Given the description of an element on the screen output the (x, y) to click on. 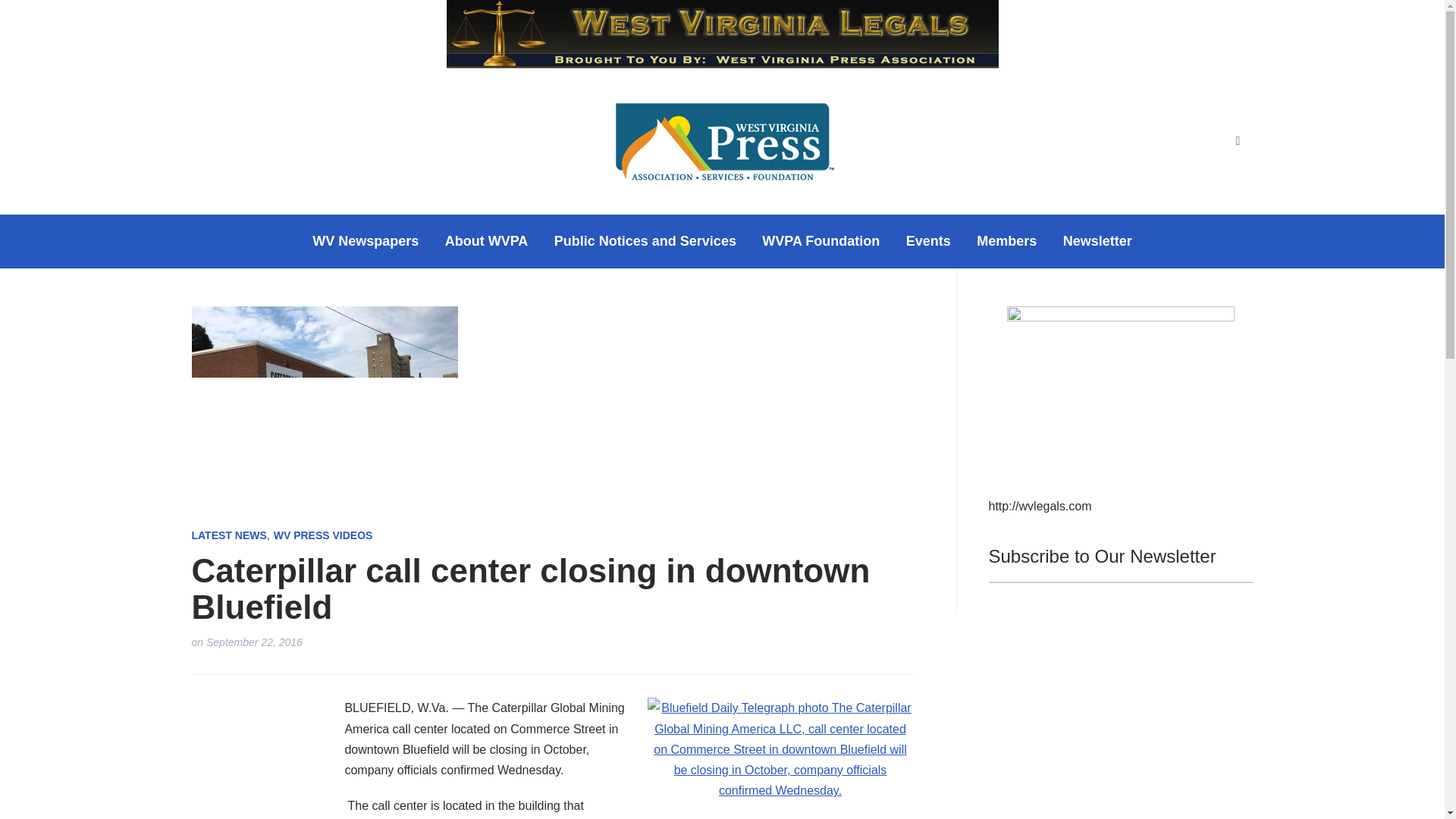
WV Newspapers (366, 241)
About WVPA (486, 241)
Search (1237, 141)
Public Notices and Services (645, 241)
